Given the description of an element on the screen output the (x, y) to click on. 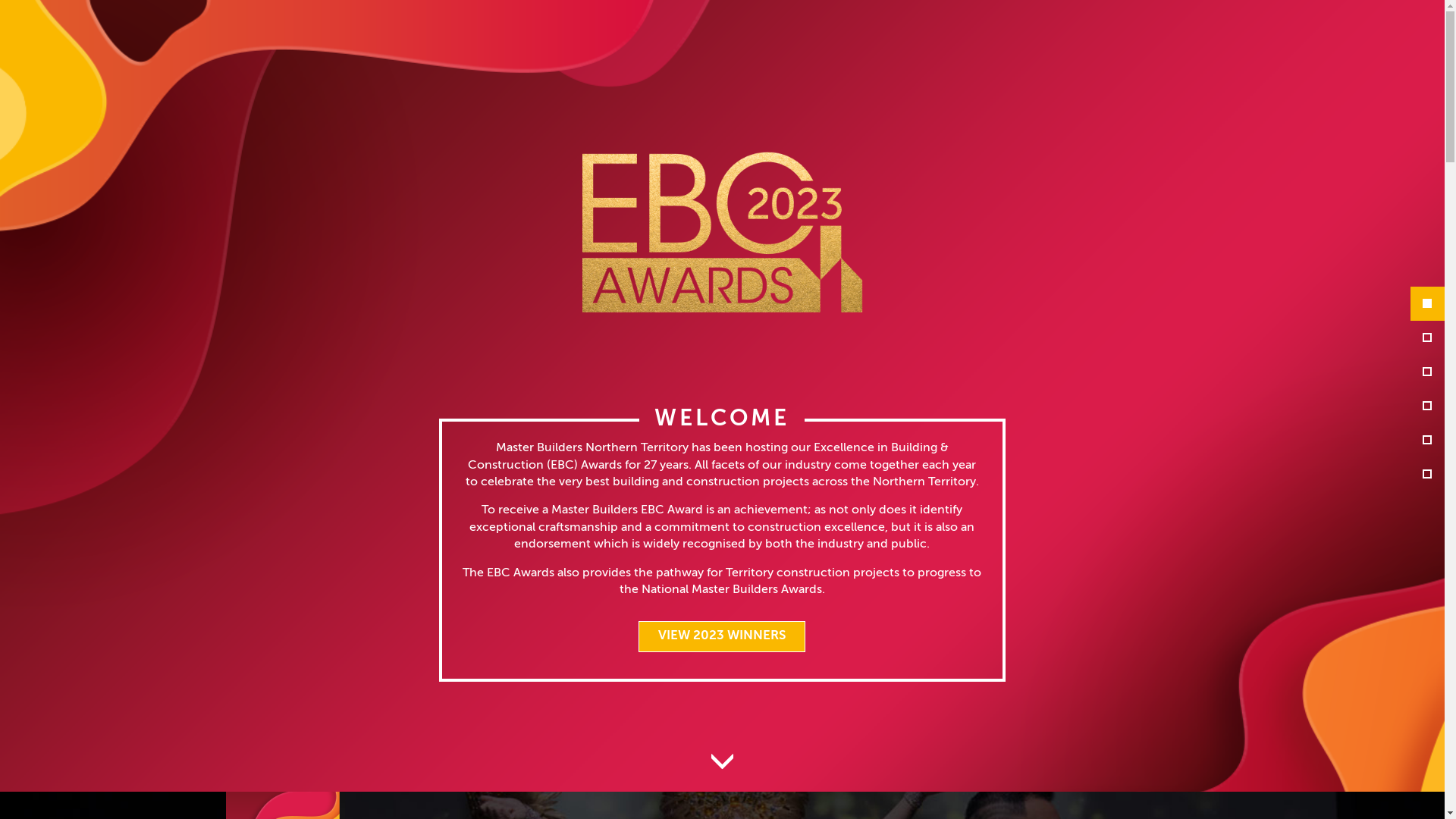
VIEW 2023 WINNERS Element type: text (721, 636)
